Given the description of an element on the screen output the (x, y) to click on. 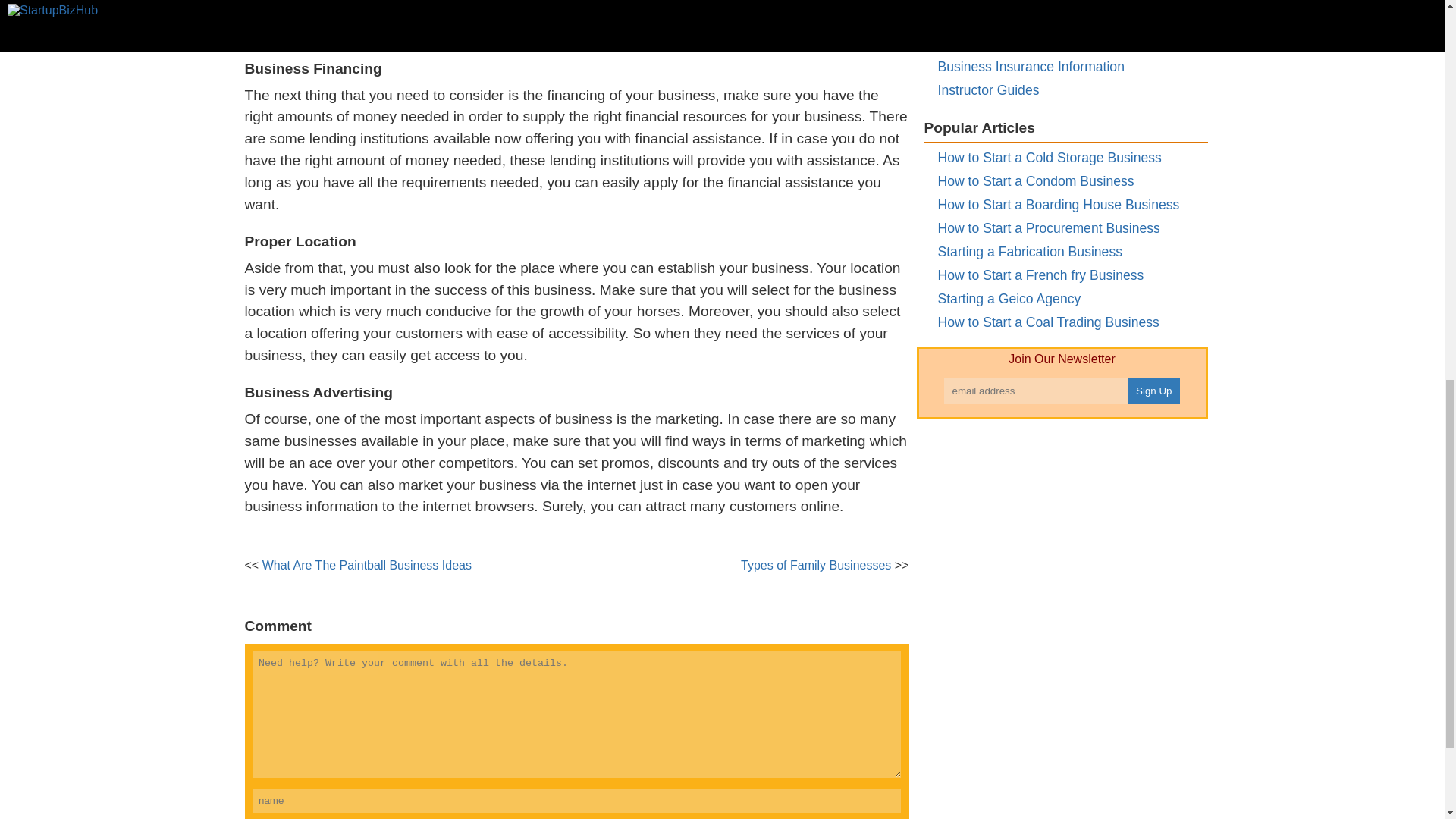
Sign Up (1153, 390)
What Are The Paintball Business Ideas (366, 564)
Repair Business Opportunity (1021, 19)
Business Marketing and Advertising (1042, 2)
Types of Family Businesses (816, 564)
